Given the description of an element on the screen output the (x, y) to click on. 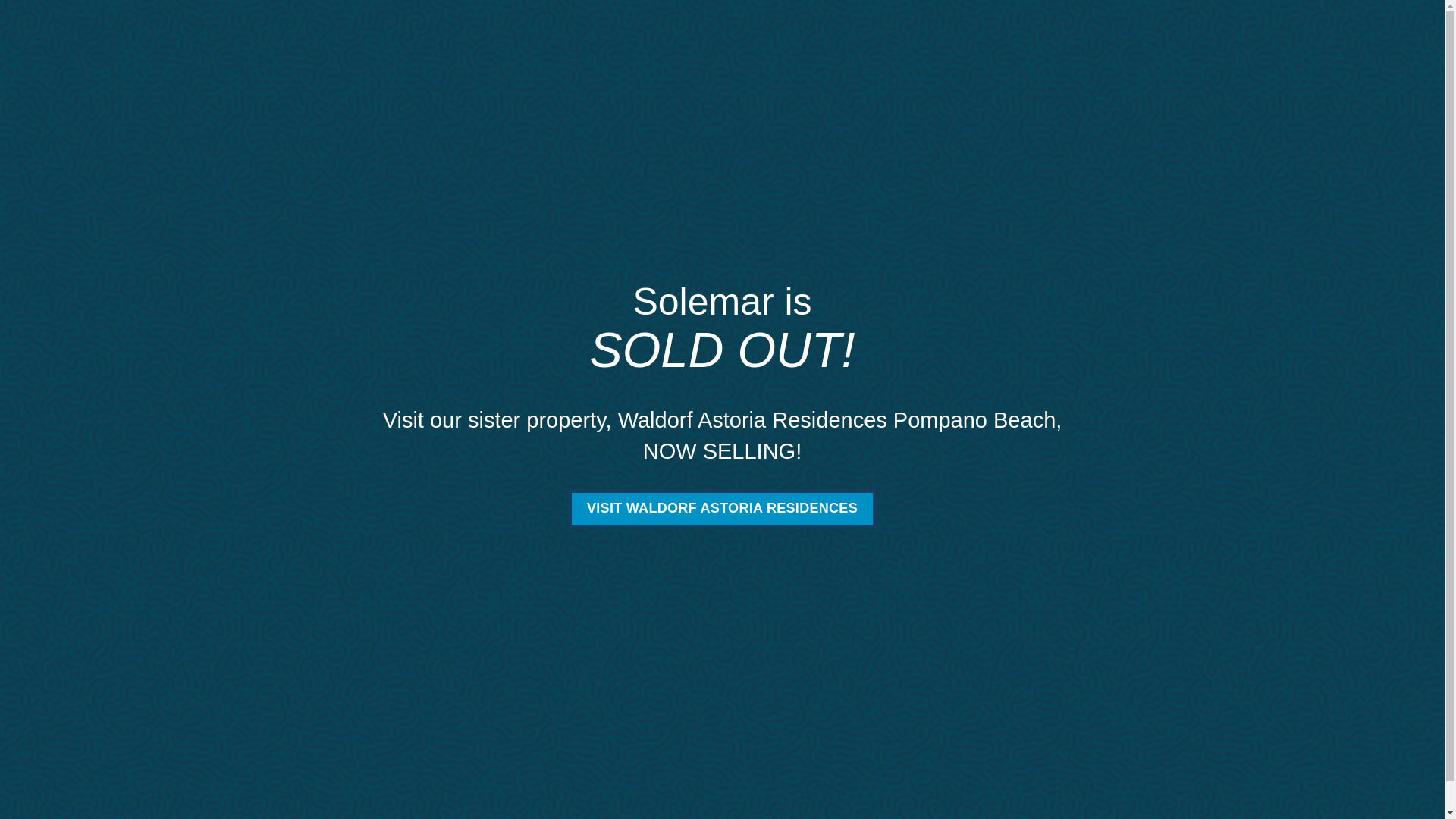
CONTACT US (1146, 22)
RESIDENCES (608, 82)
FLOORPLANS (695, 82)
DOWNLOADS (1133, 82)
GALLERY (1039, 82)
VIDEO TOUR (1078, 16)
AMENITIES (787, 82)
